Given the description of an element on the screen output the (x, y) to click on. 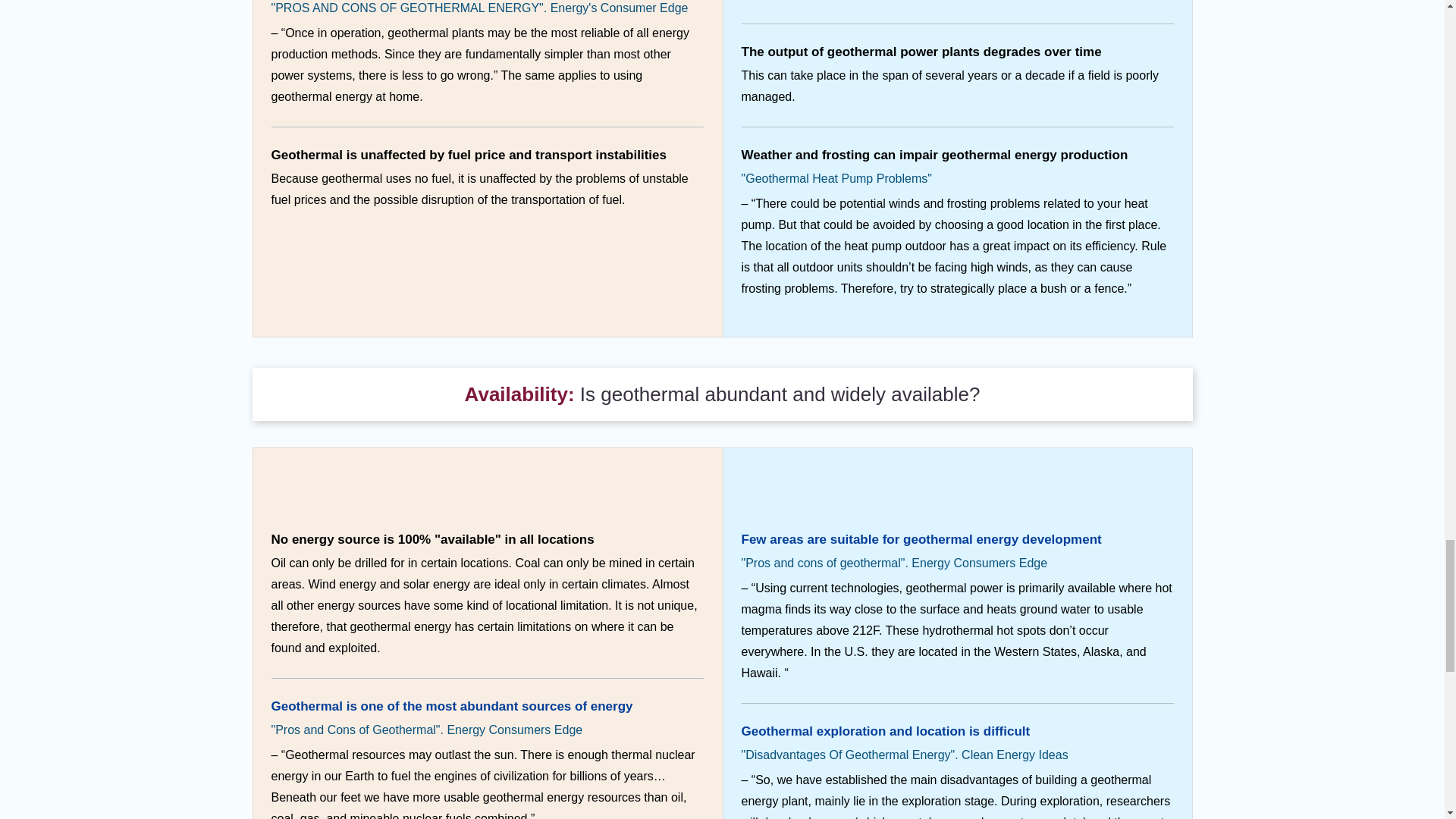
Few areas are suitable for geothermal energy development (921, 530)
Geothermal is one of the most abundant sources of energy (451, 696)
"Geothermal Heat Pump Problems" (836, 178)
Geothermal is one of the most abundant sources of energy (451, 696)
"PROS AND CONS OF GEOTHERMAL ENERGY". Energy's Consumer Edge (479, 7)
Geothermal exploration and location is difficult (885, 721)
